Given the description of an element on the screen output the (x, y) to click on. 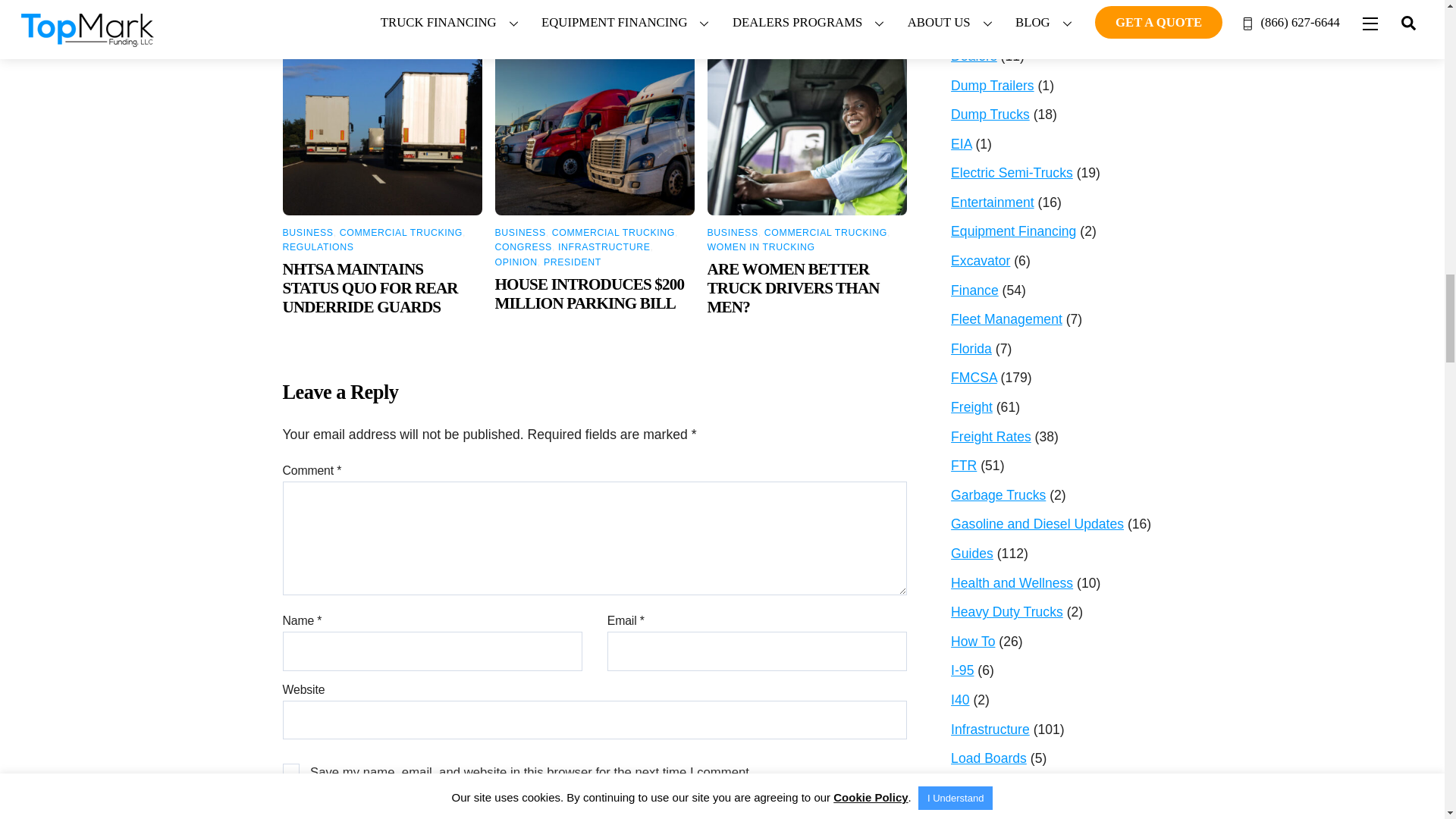
Post Comment (594, 810)
yes (290, 772)
